Given the description of an element on the screen output the (x, y) to click on. 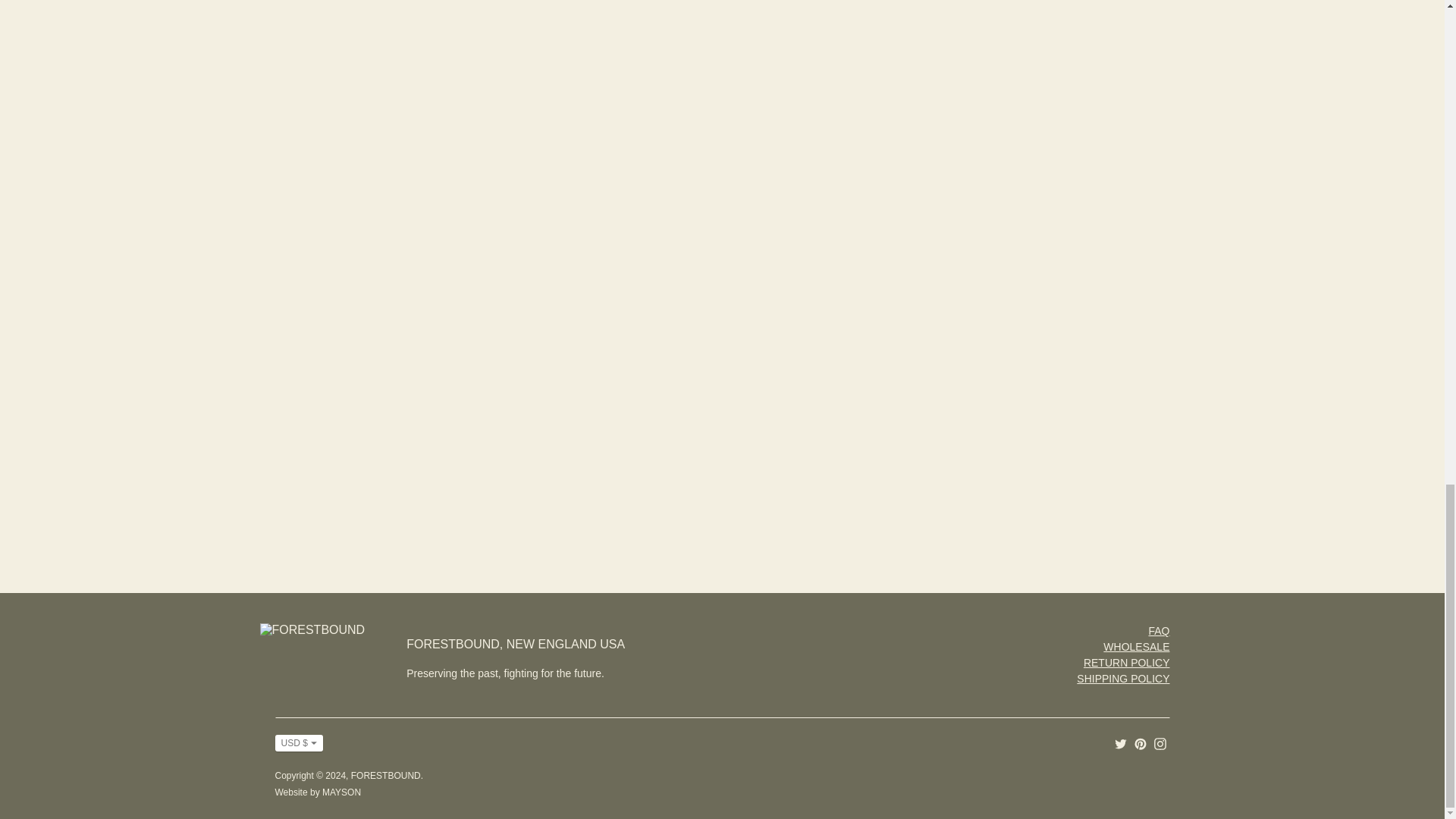
FORESTBOUND on Pinterest (1140, 742)
FORESTBOUND on Twitter (1120, 742)
FORESTBOUND on Instagram (1160, 742)
